Given the description of an element on the screen output the (x, y) to click on. 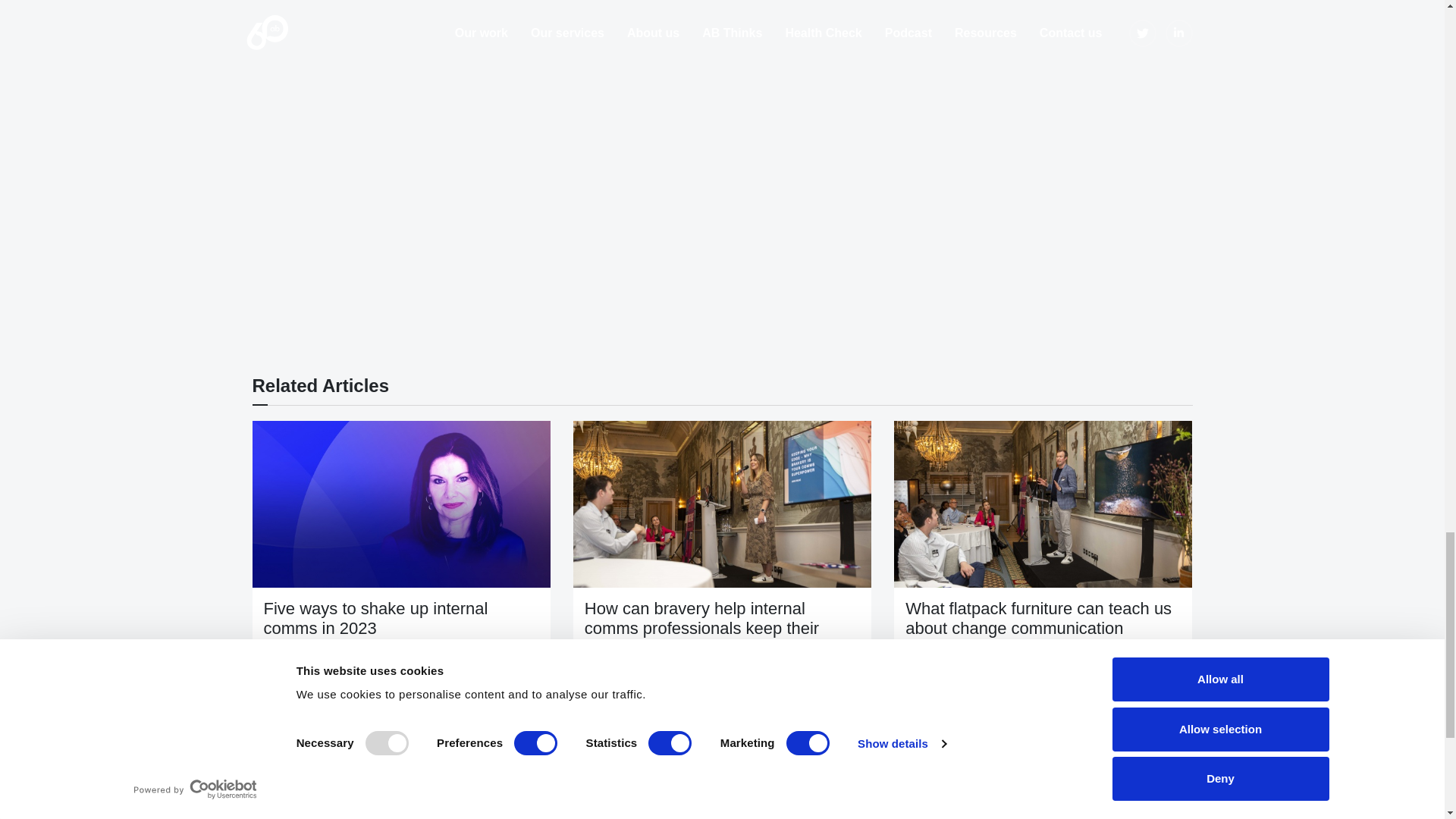
Five ways to shake up internal comms in 2023 (400, 504)
Freddie Reynolds (365, 688)
Freddie Reynolds (288, 706)
Five ways to shake up internal comms in 2023 (375, 618)
